Given the description of an element on the screen output the (x, y) to click on. 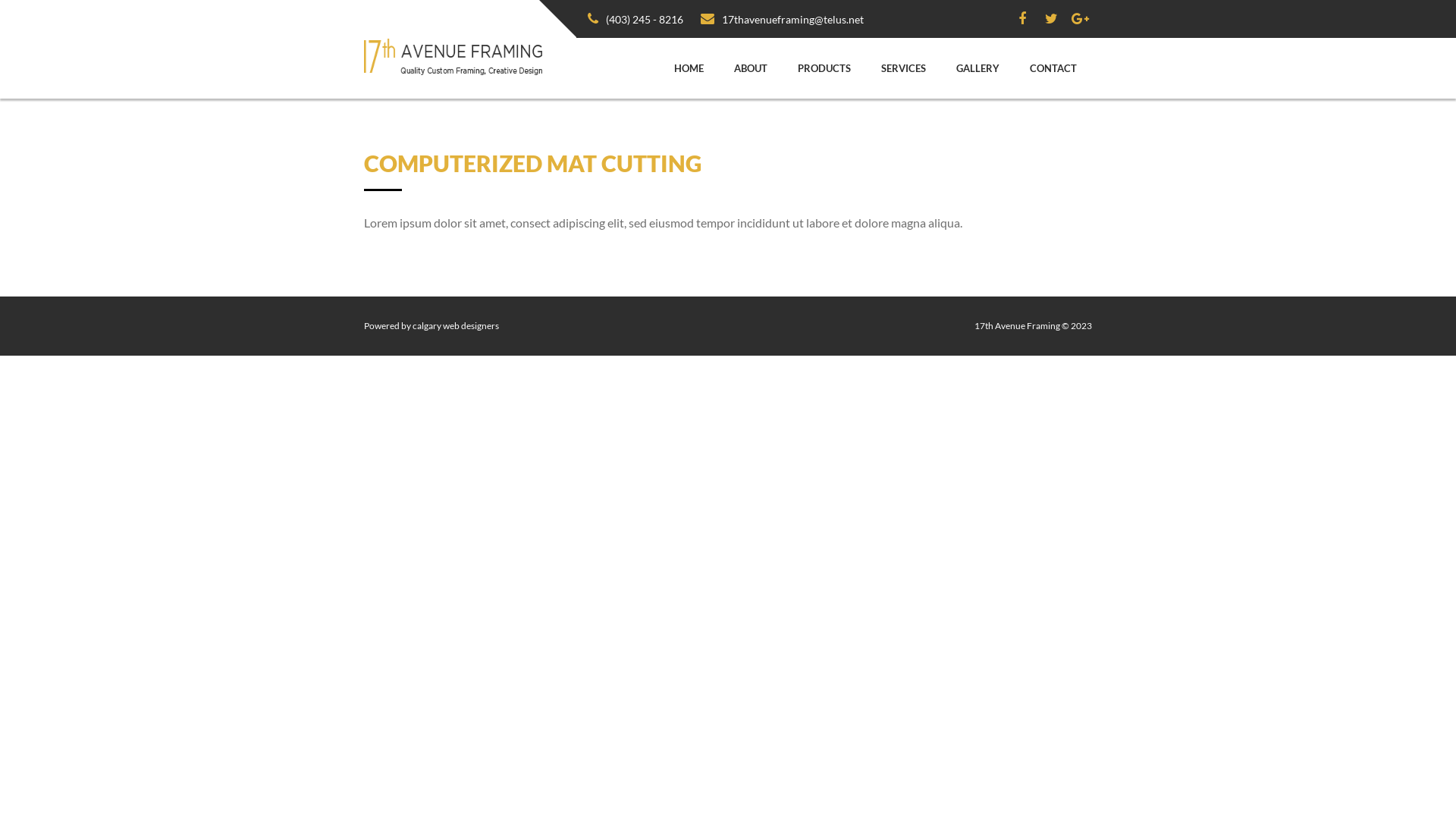
17thavenueframing@telus.net Element type: text (781, 19)
CONTACT Element type: text (1053, 68)
calgary web designers Element type: text (455, 325)
17th Avenue Framing Element type: hover (453, 54)
(403) 245 - 8216 Element type: text (635, 19)
ABOUT Element type: text (750, 68)
HOME Element type: text (688, 68)
PRODUCTS Element type: text (824, 68)
SERVICES Element type: text (903, 68)
GALLERY Element type: text (977, 68)
